Given the description of an element on the screen output the (x, y) to click on. 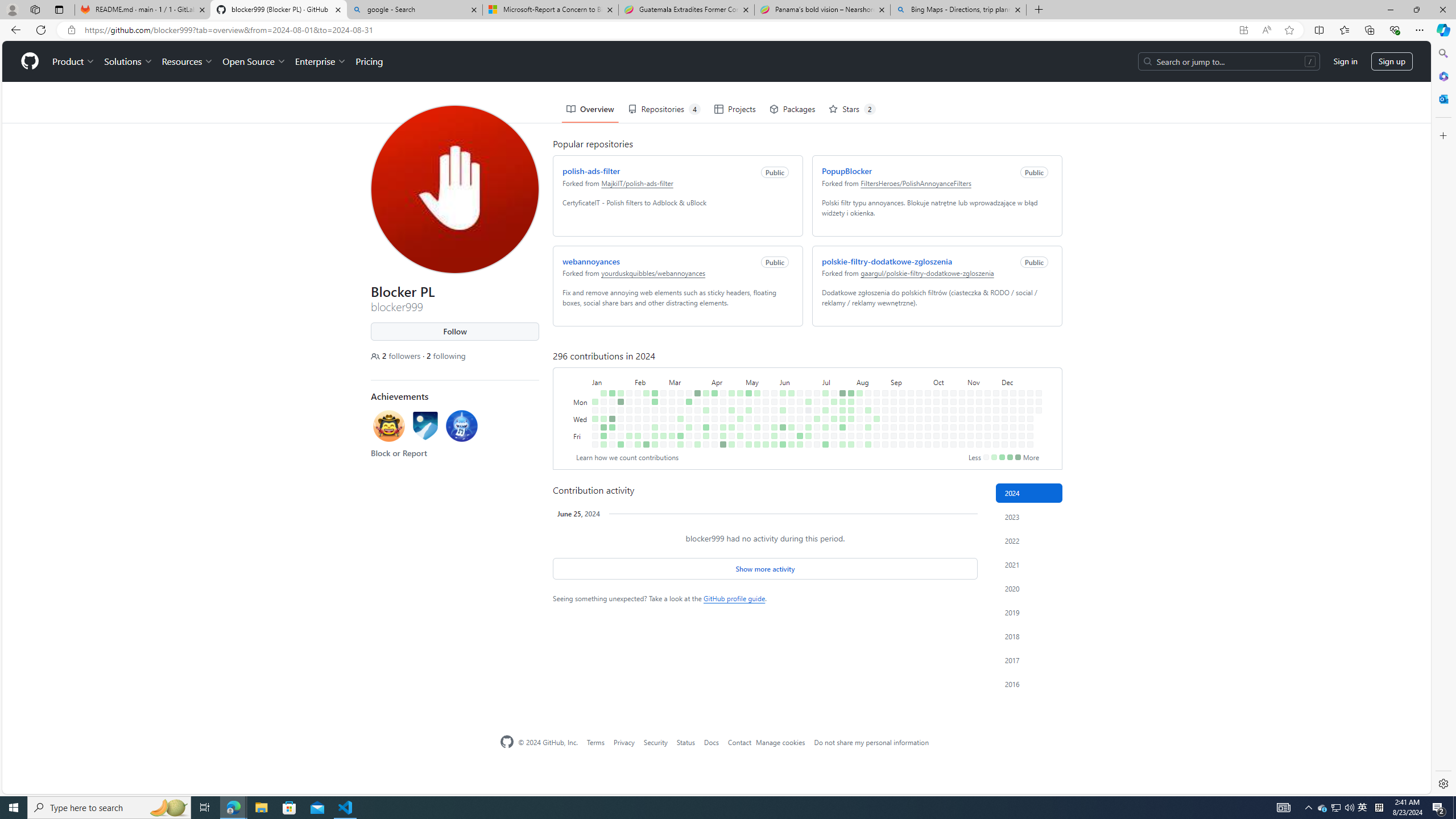
No contributions on September 8th. (899, 351)
No contributions on March 6th. (669, 377)
No contributions on August 12th. (866, 360)
No contributions on February 16th. (643, 394)
Contribution activity in 2019 (1028, 612)
3 contributions on February 10th. (637, 444)
1 contribution on May 11th. (748, 444)
No contributions on November 30th. (995, 444)
No contributions on April 14th. (720, 351)
No contributions on November 2nd. (962, 444)
Stars 2 (849, 67)
No contributions on February 3rd. (628, 444)
No contributions on October 18th. (942, 394)
No contributions on June 11th. (789, 369)
1 contribution on August 21st. (873, 377)
